Given the description of an element on the screen output the (x, y) to click on. 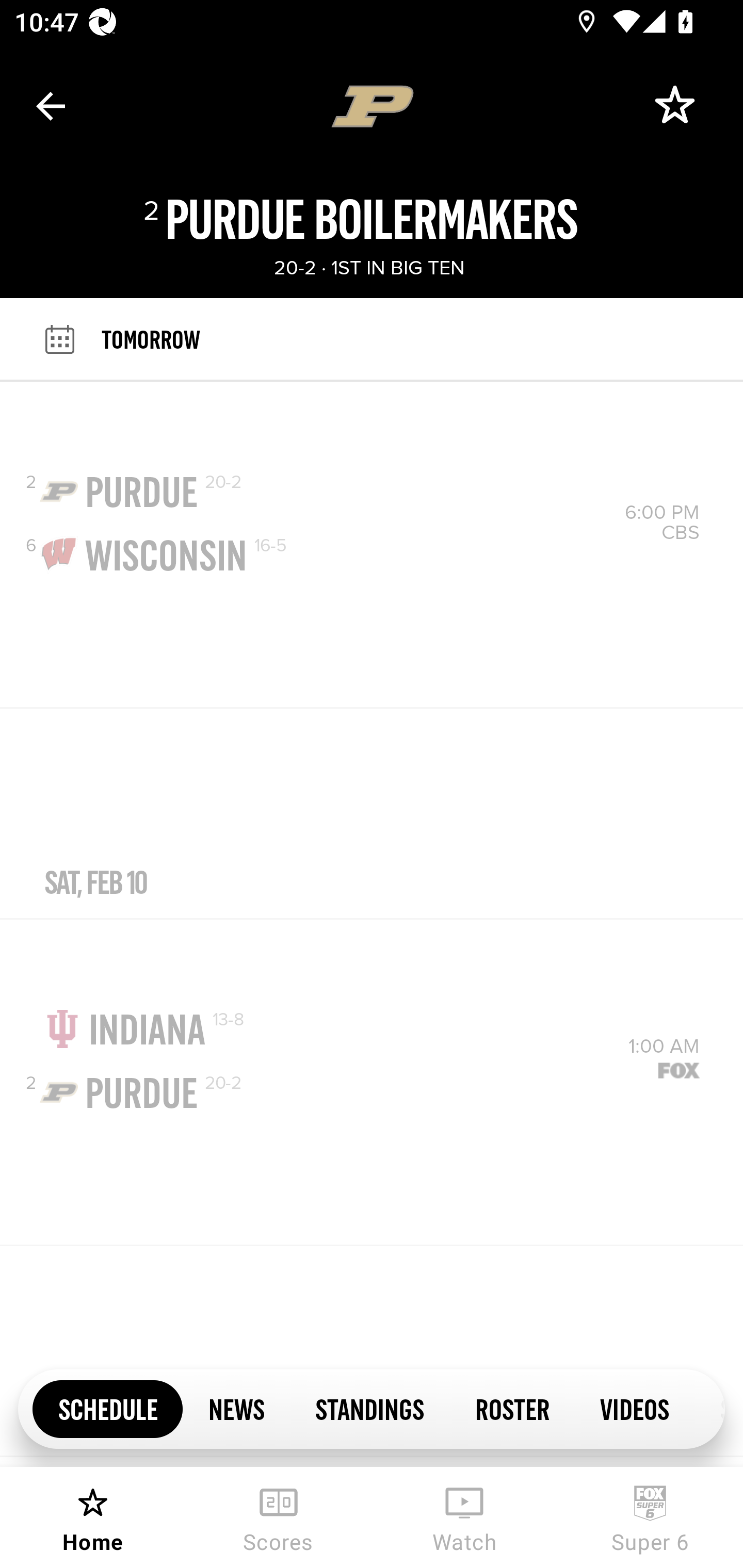
Navigate up (50, 106)
20-2 · 1ST IN BIG TEN (368, 267)
TOMORROW (422, 339)
NEWS (235, 1408)
STANDINGS (369, 1408)
ROSTER (512, 1408)
VIDEOS (634, 1408)
Scores (278, 1517)
Watch (464, 1517)
Super 6 (650, 1517)
